Given the description of an element on the screen output the (x, y) to click on. 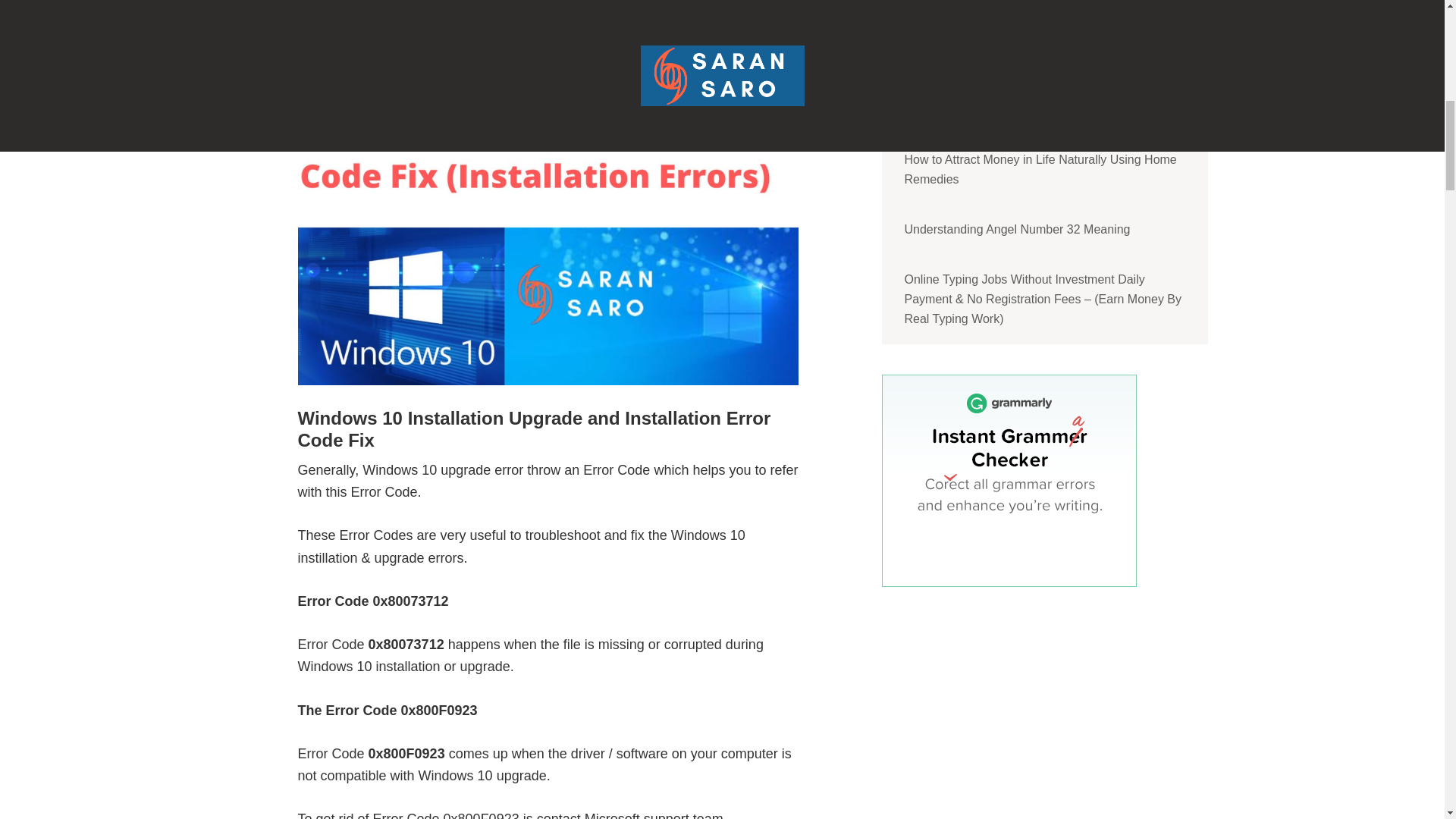
1111 Twin Flame Separation and Reunion (1043, 7)
Brain Power: Activate Brain Power in Children and Adult (1043, 100)
Earth Day 2024: 10 Ways to Celebrate Earth Day (1043, 40)
How to Attract Money in Life Naturally Using Home Remedies (1043, 169)
Understanding Angel Number 32 Meaning (1043, 229)
Windows 10 (334, 73)
